Given the description of an element on the screen output the (x, y) to click on. 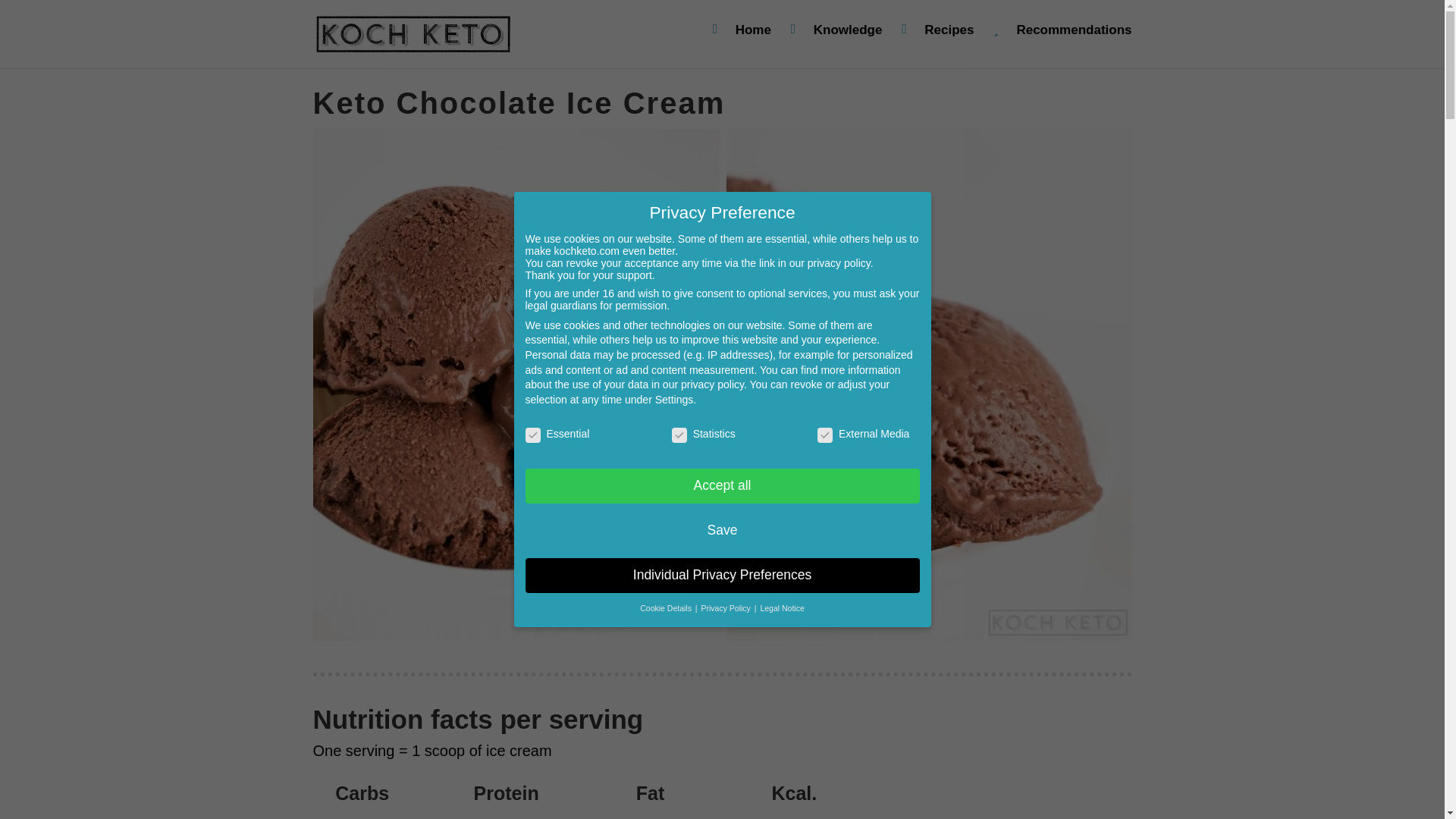
Knowledge (836, 42)
Home (742, 42)
Recipes (937, 42)
Recommendations (1061, 42)
